Given the description of an element on the screen output the (x, y) to click on. 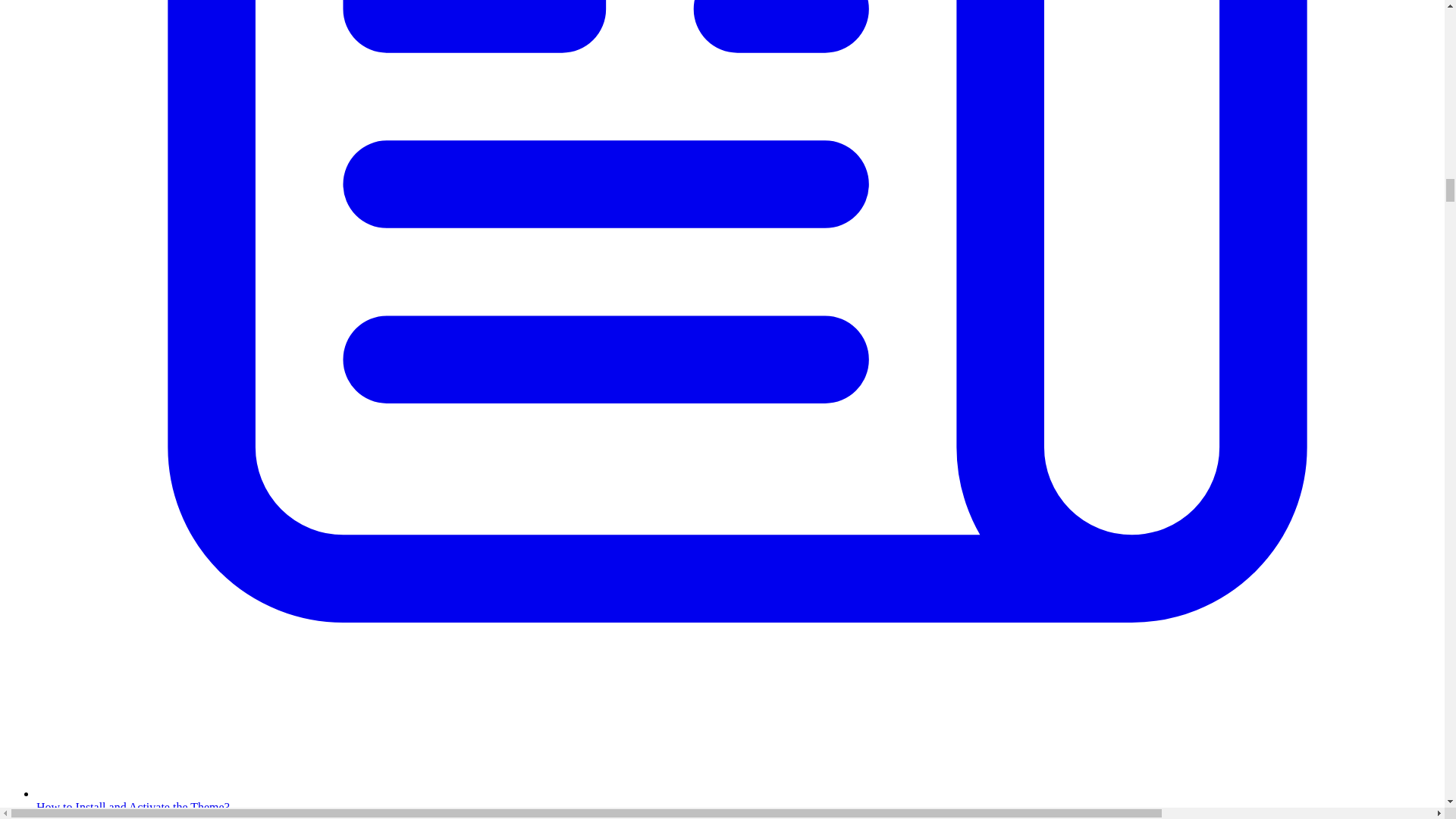
How to Install and Activate the Theme? (737, 800)
